Given the description of an element on the screen output the (x, y) to click on. 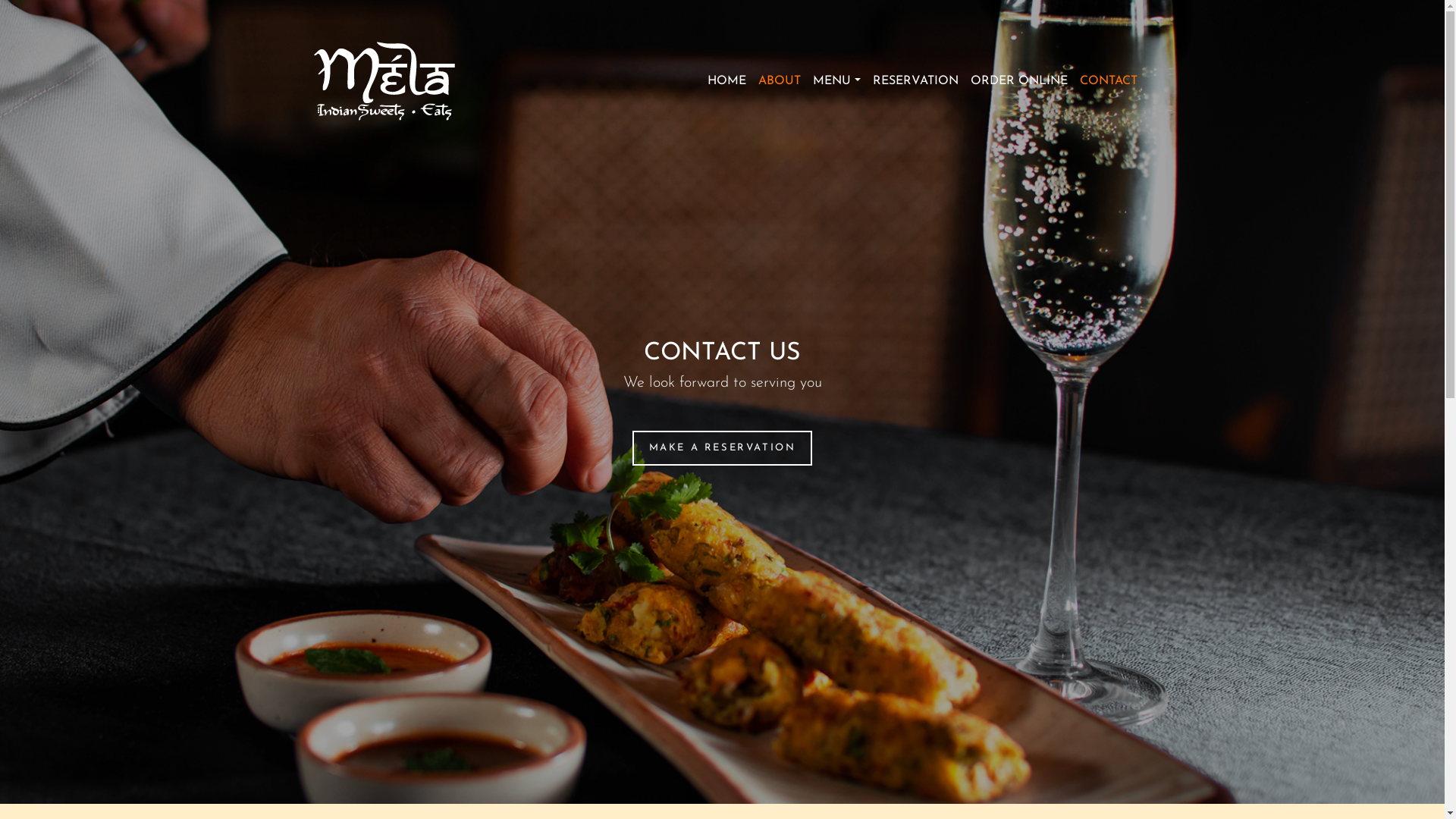
ABOUT Element type: text (779, 80)
HOME Element type: text (726, 80)
MENU Element type: text (836, 80)
ORDER ONLINE Element type: text (1018, 80)
RESERVATION Element type: text (914, 80)
CONTACT Element type: text (1108, 80)
MAKE A RESERVATION Element type: text (721, 447)
